Given the description of an element on the screen output the (x, y) to click on. 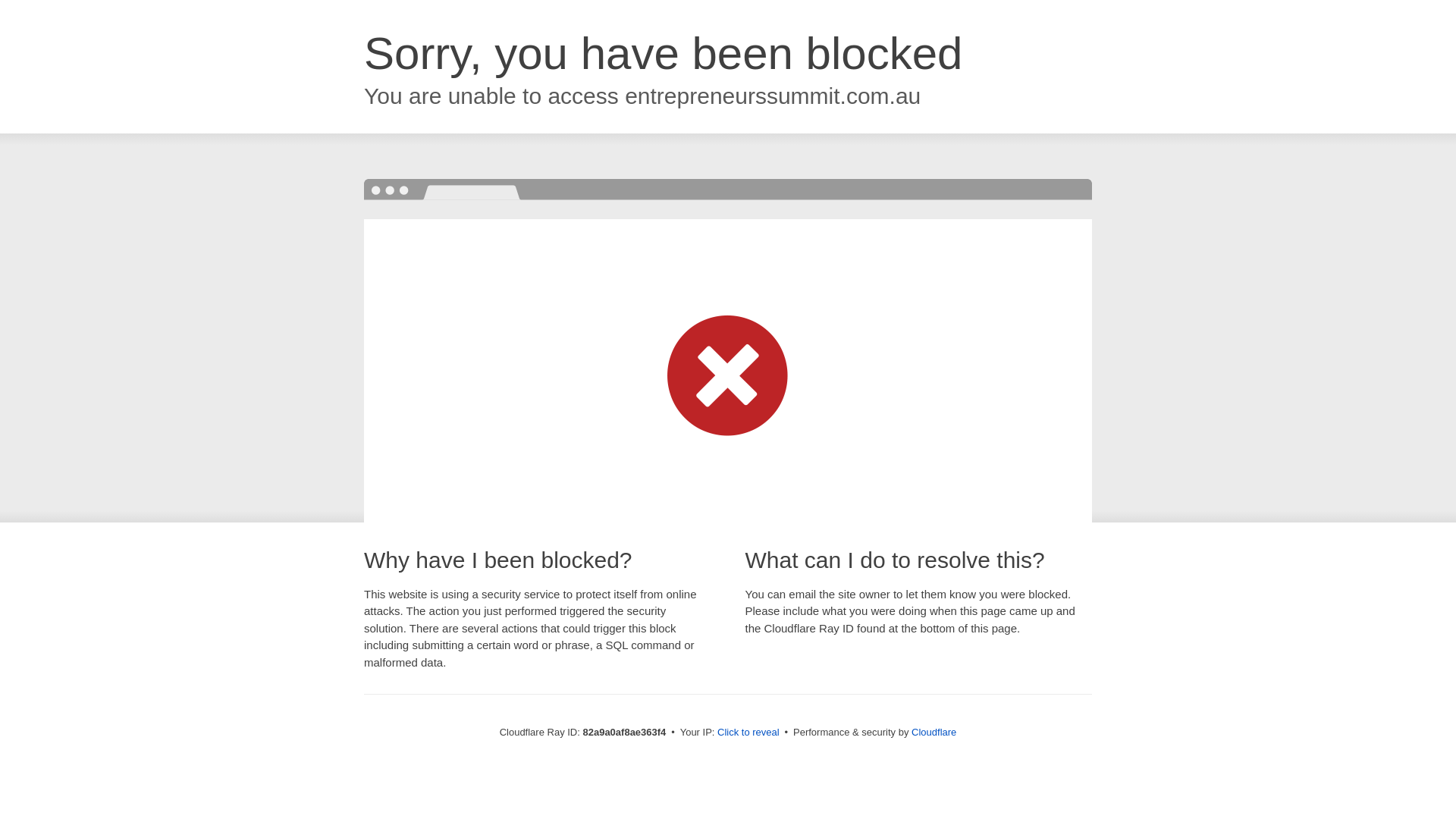
Click to reveal Element type: text (748, 732)
Cloudflare Element type: text (933, 731)
